Given the description of an element on the screen output the (x, y) to click on. 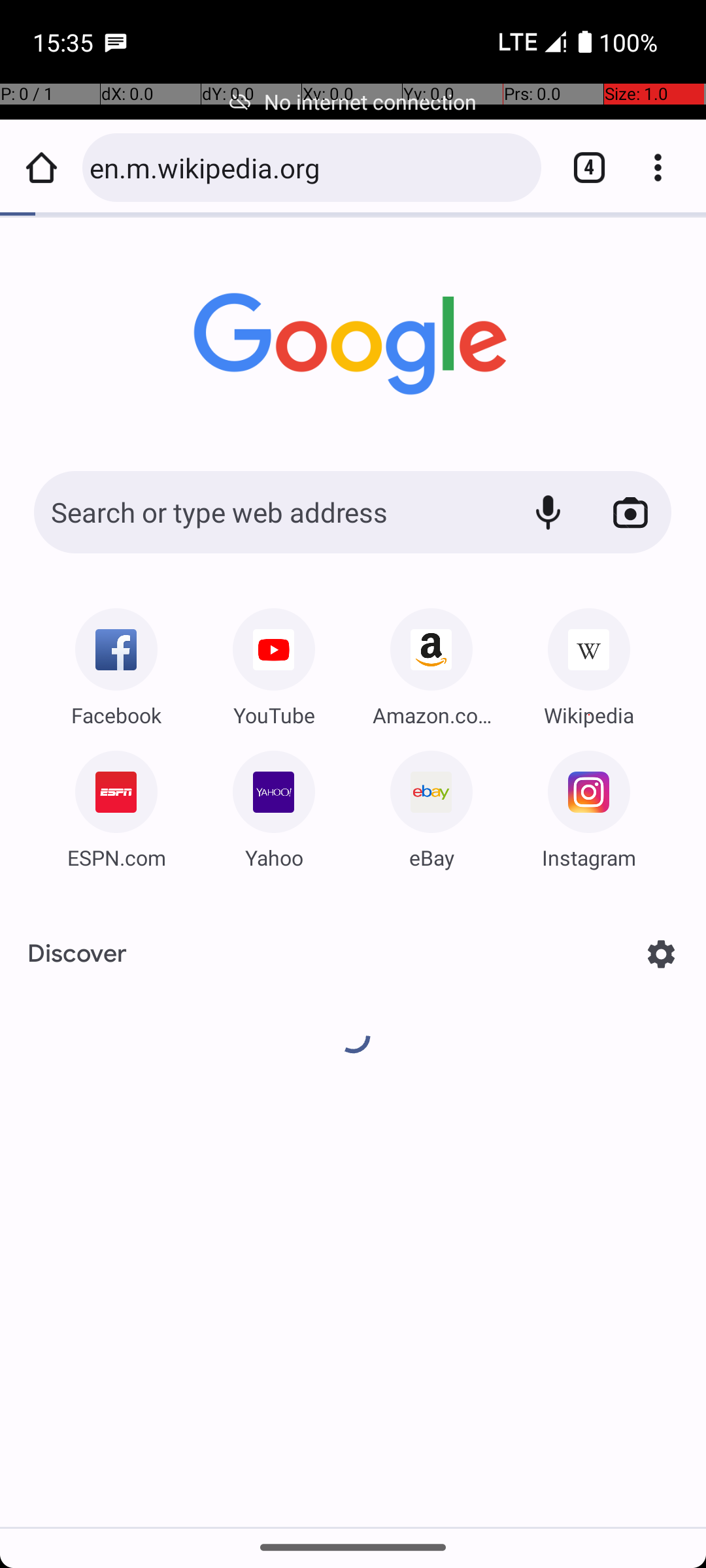
en.m.wikipedia.org Element type: android.widget.EditText (308, 167)
